Given the description of an element on the screen output the (x, y) to click on. 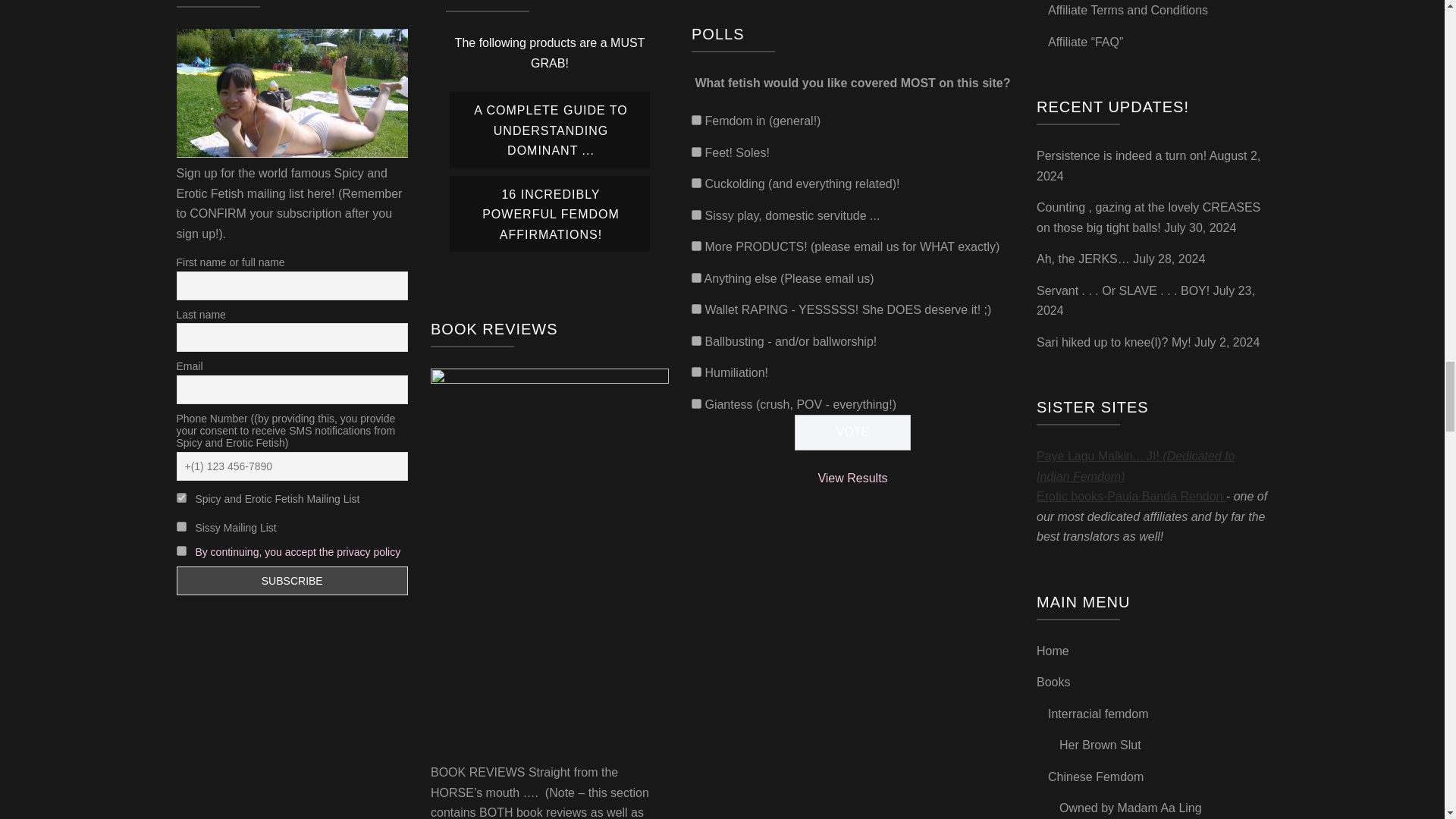
View Results Of This Poll (851, 477)
